Given the description of an element on the screen output the (x, y) to click on. 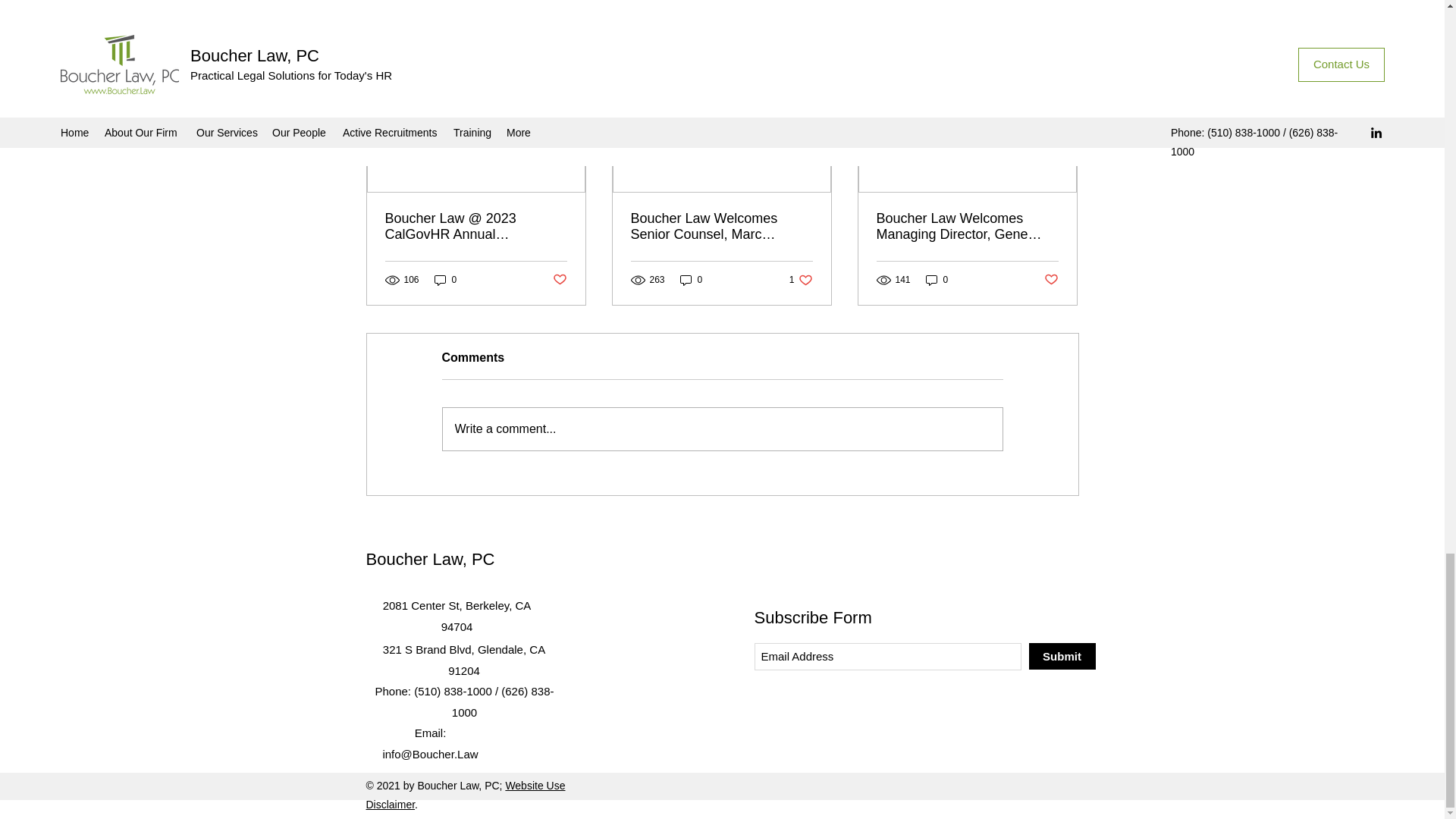
Boucher Law Welcomes Managing Director, Gene Boucher (967, 226)
Post not marked as liked (800, 279)
0 (558, 279)
0 (937, 279)
Boucher Law Welcomes Senior Counsel, Marc Zafferano (691, 279)
See All (721, 226)
0 (1061, 42)
